Given the description of an element on the screen output the (x, y) to click on. 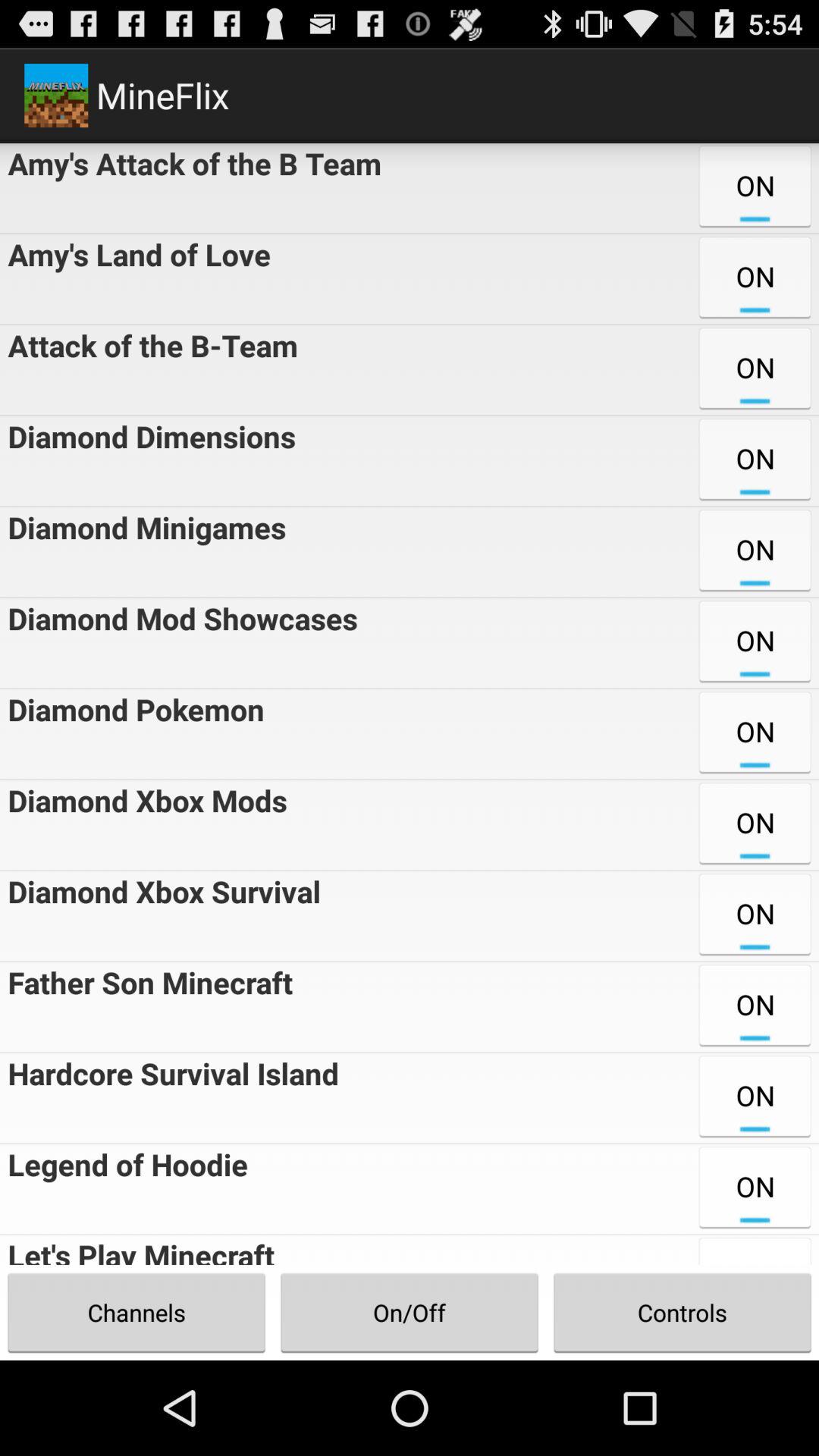
open item above diamond xbox mods icon (132, 734)
